Given the description of an element on the screen output the (x, y) to click on. 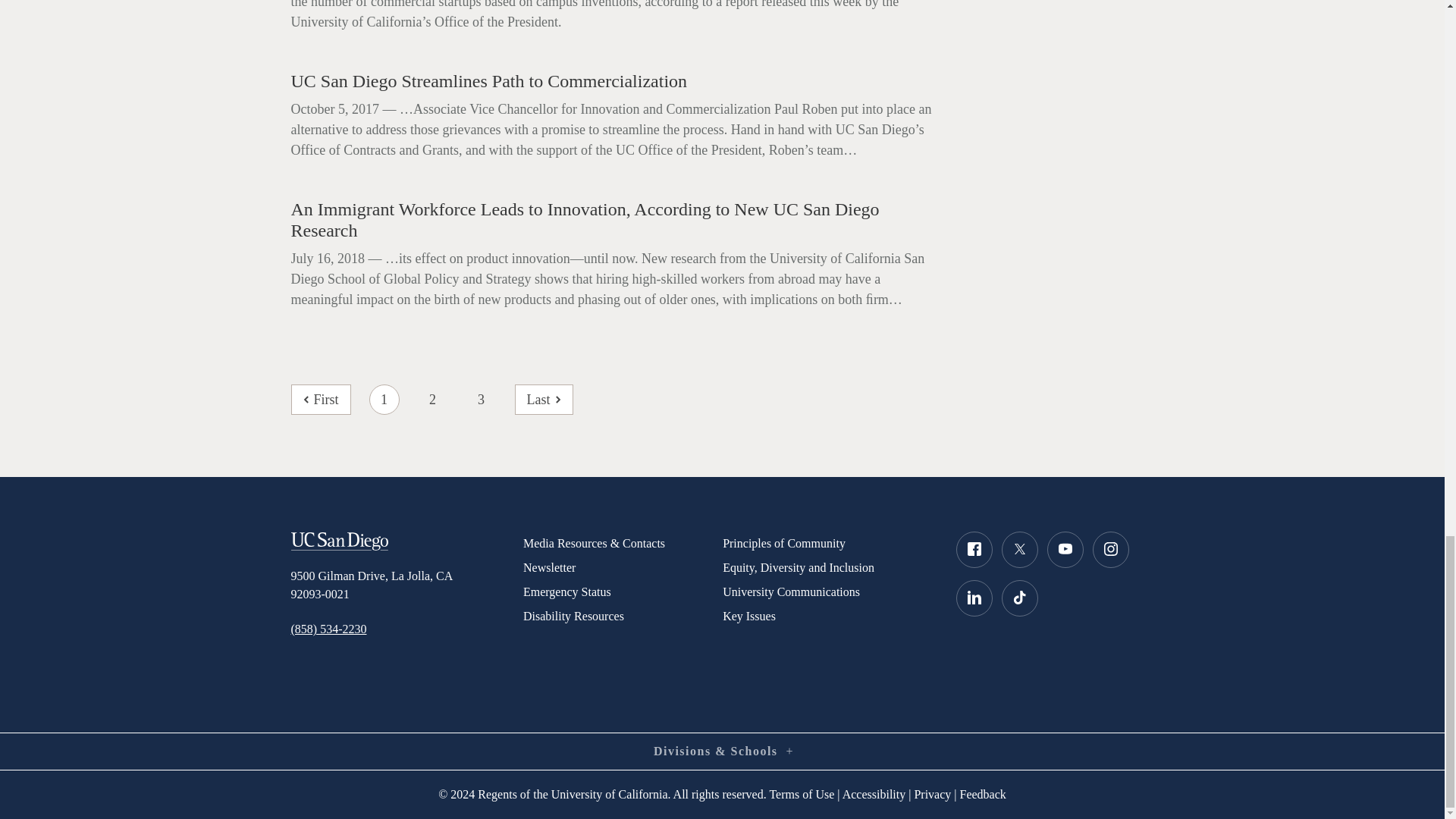
Principles of Community (826, 543)
Principles of Community (826, 543)
University Communications (826, 591)
Equity, Diversity and Inclusion (826, 567)
Key Issues (826, 616)
Newsletter (622, 567)
Terms of Use (801, 793)
Privacy (932, 793)
Disability Resources (622, 616)
